Given the description of an element on the screen output the (x, y) to click on. 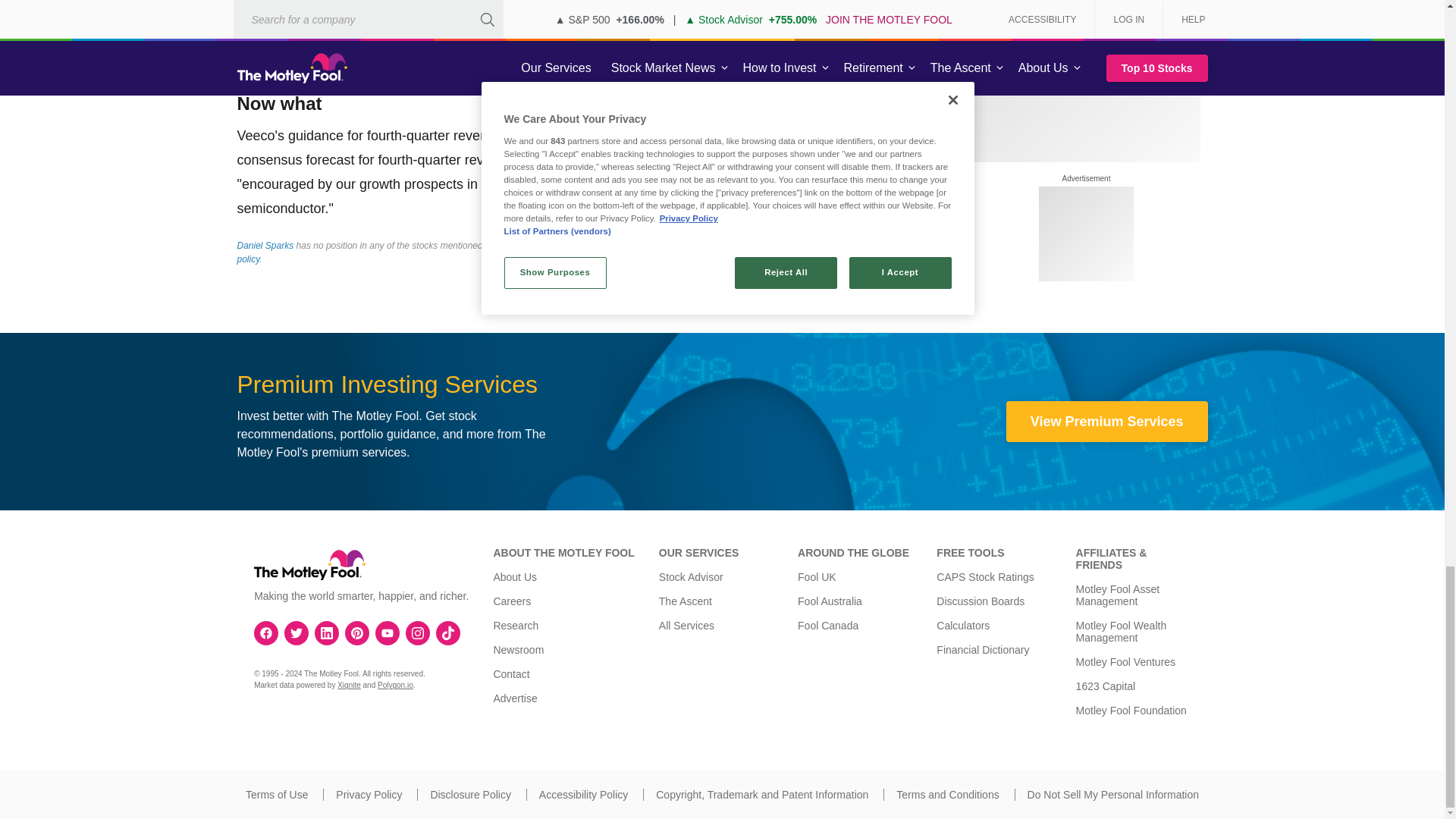
Do Not Sell My Personal Information. (1112, 794)
Disclosure Policy (470, 794)
Accessibility Policy (582, 794)
Terms and Conditions (947, 794)
Terms of Use (276, 794)
Privacy Policy (368, 794)
Copyright, Trademark and Patent Information (761, 794)
